Given the description of an element on the screen output the (x, y) to click on. 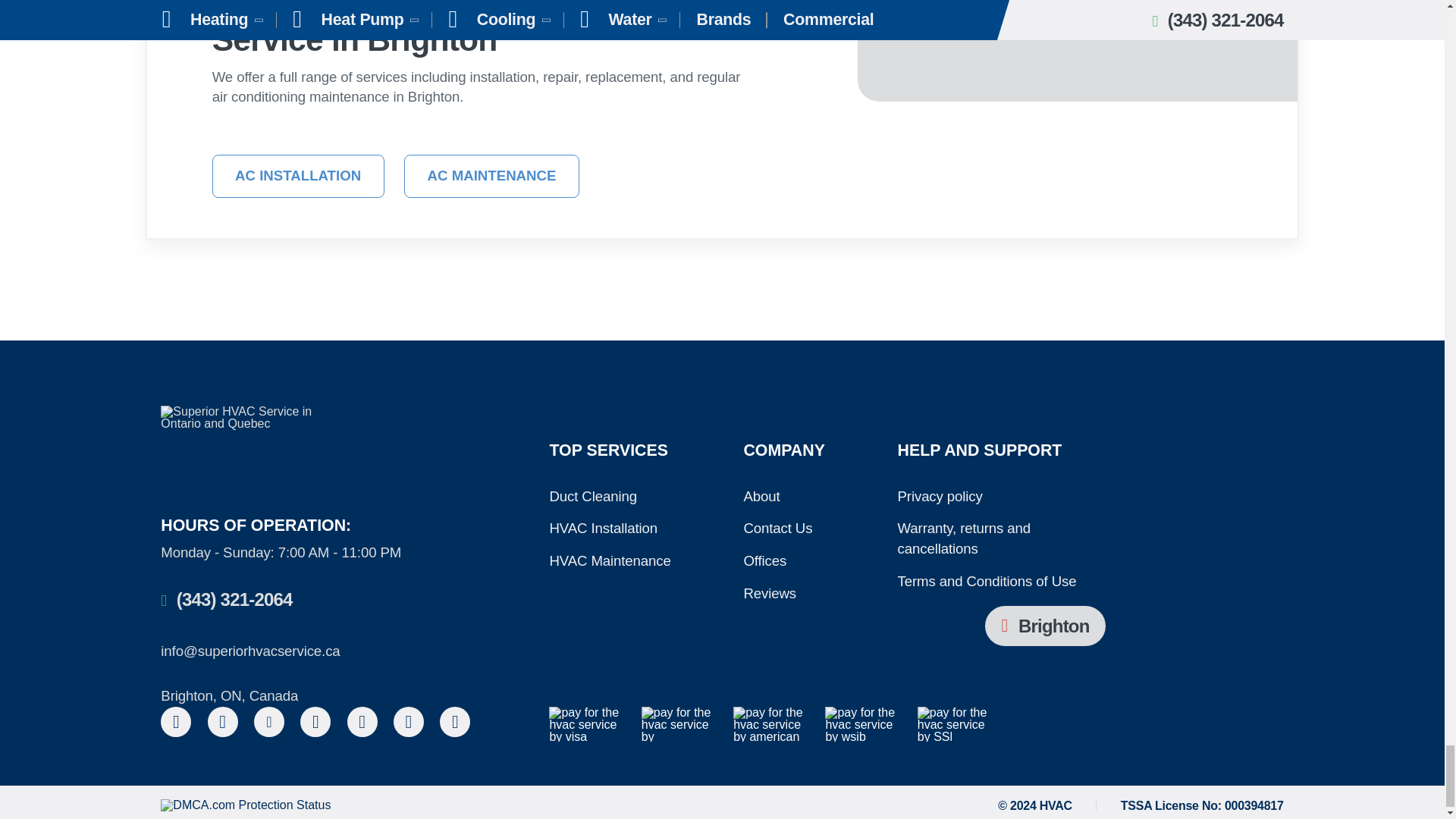
DMCA.com Protection Status (245, 805)
